Given the description of an element on the screen output the (x, y) to click on. 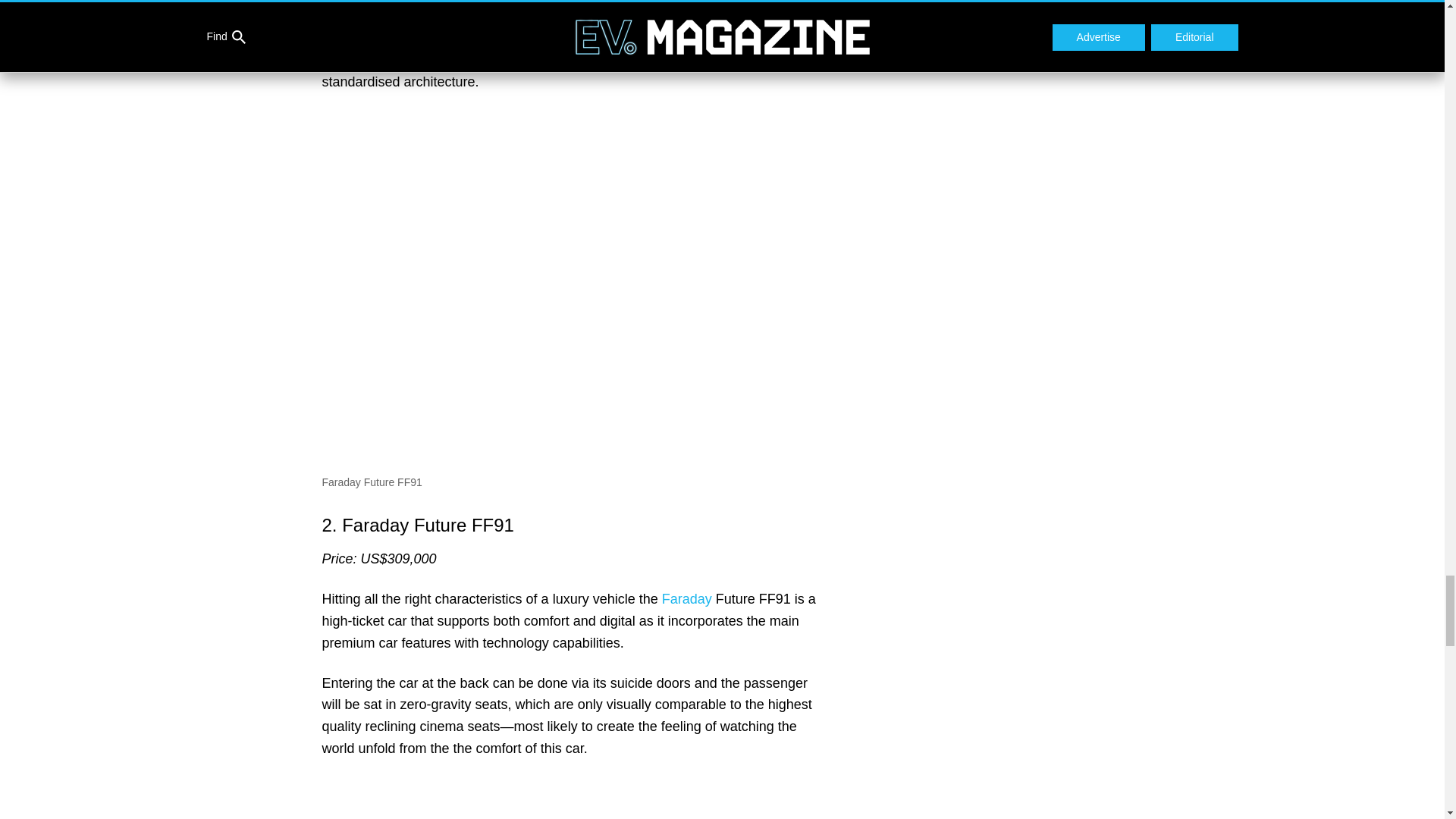
Faraday (686, 598)
